Given the description of an element on the screen output the (x, y) to click on. 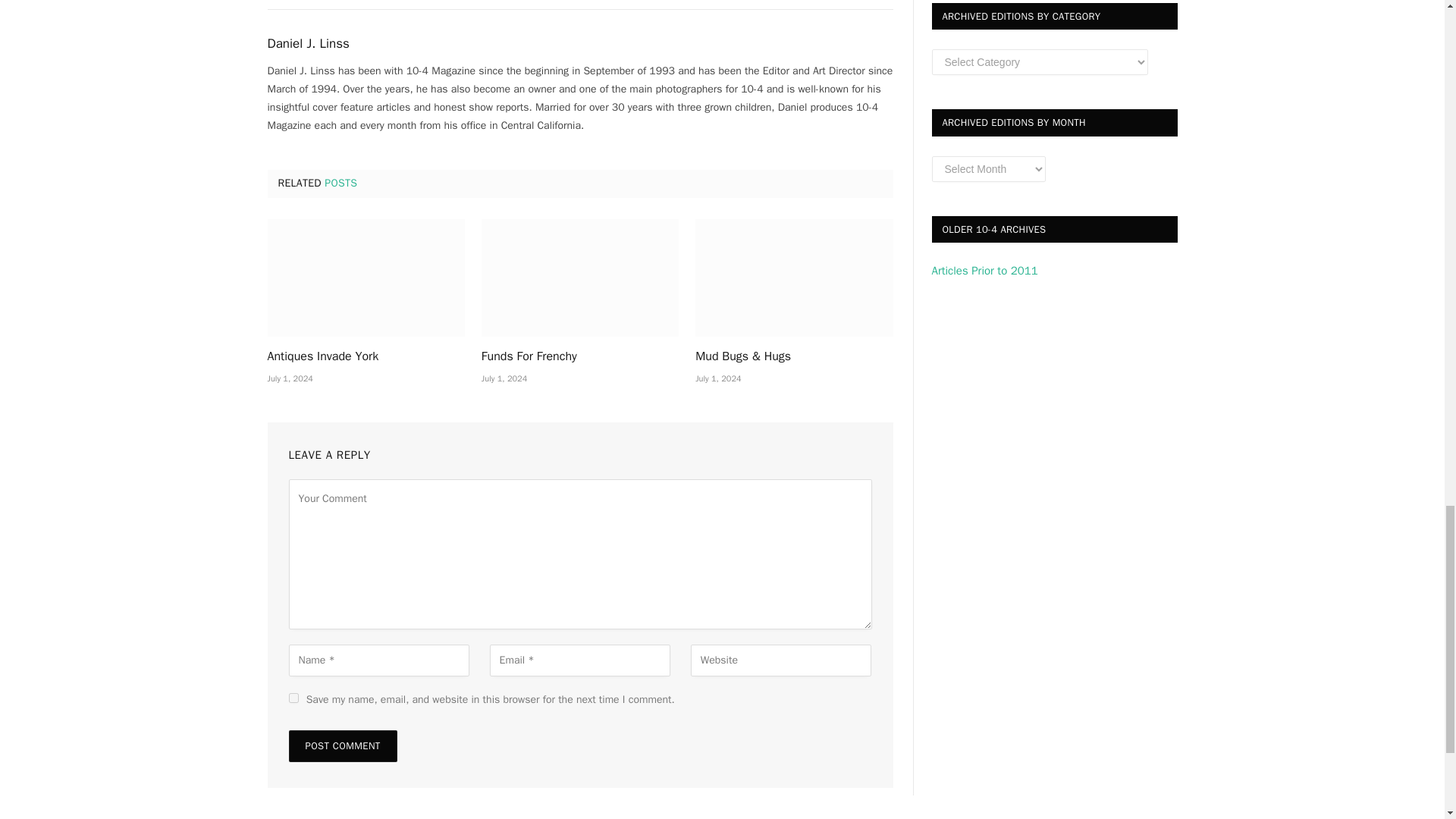
yes (293, 697)
Post Comment (342, 746)
